Given the description of an element on the screen output the (x, y) to click on. 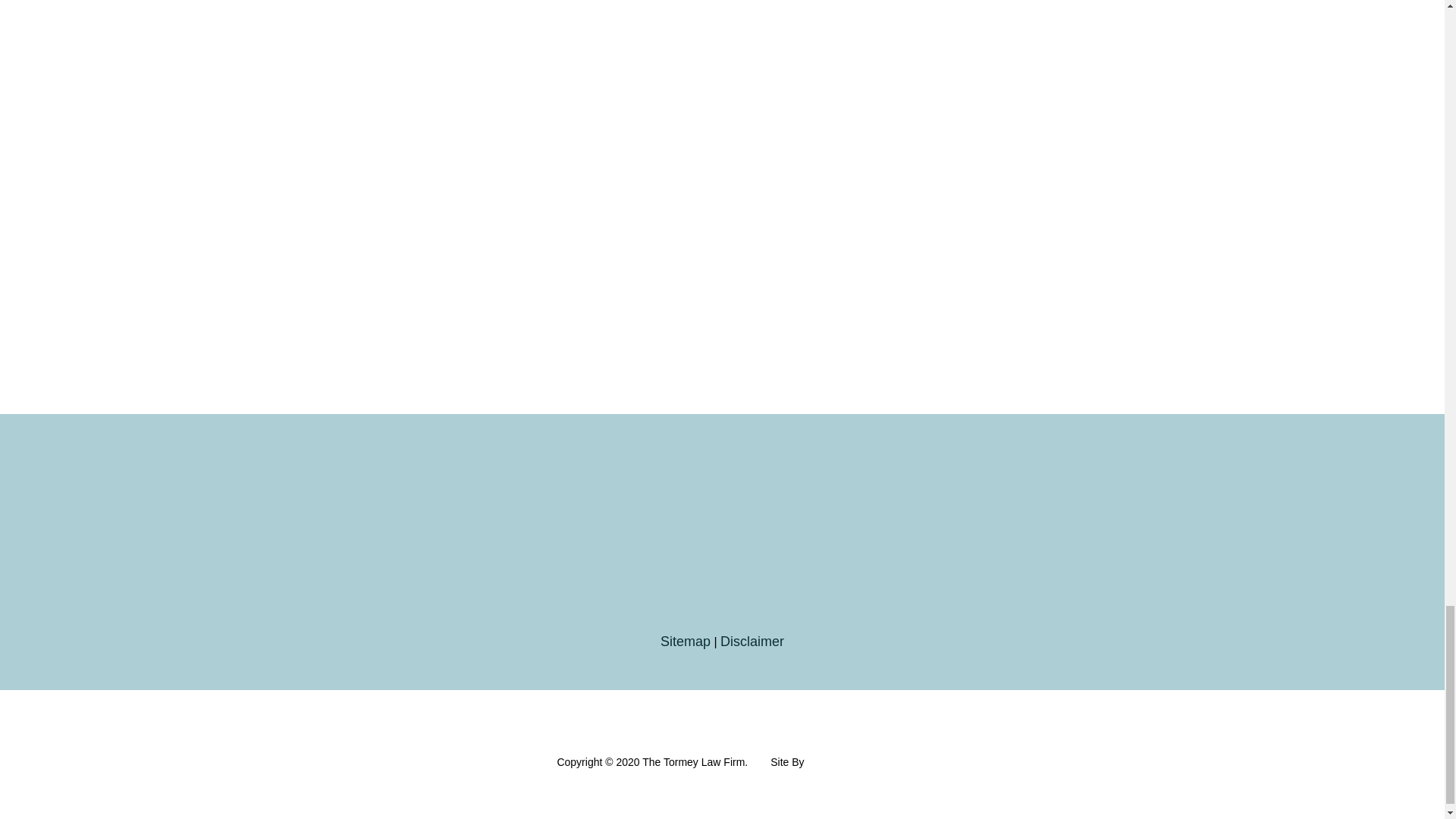
The Tormey Law Firm Sitemap (685, 641)
The Tormey Law Firm Disclaimer (752, 641)
